Given the description of an element on the screen output the (x, y) to click on. 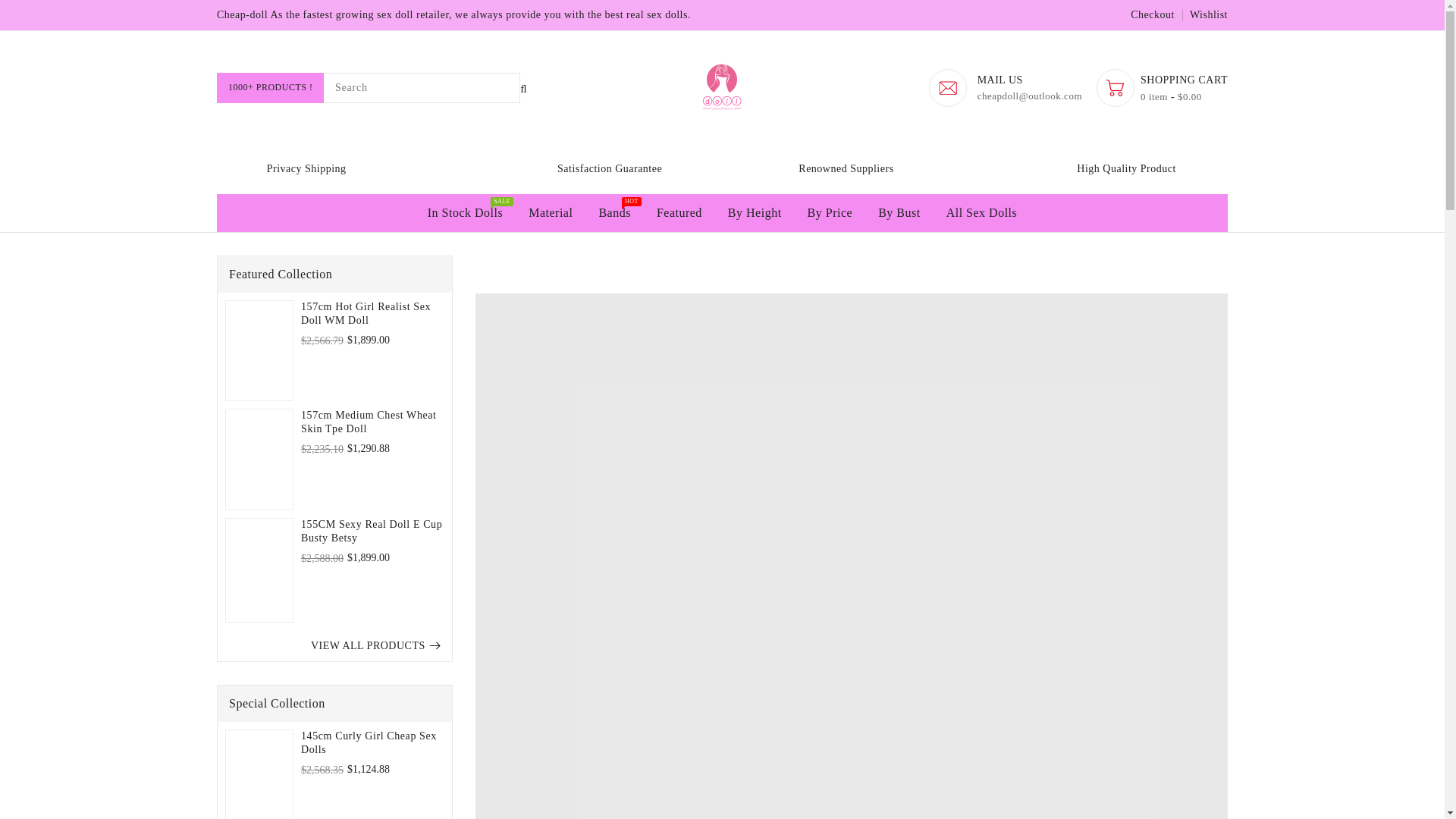
Satisfaction Guarantee (593, 167)
Featured (679, 212)
Renowned Suppliers (851, 167)
Wishlist (1208, 14)
Material (549, 212)
Checkout (614, 212)
Privacy Shipping (1152, 14)
SKIP TO CONTENT (333, 167)
High Quality Product (14, 7)
